Given the description of an element on the screen output the (x, y) to click on. 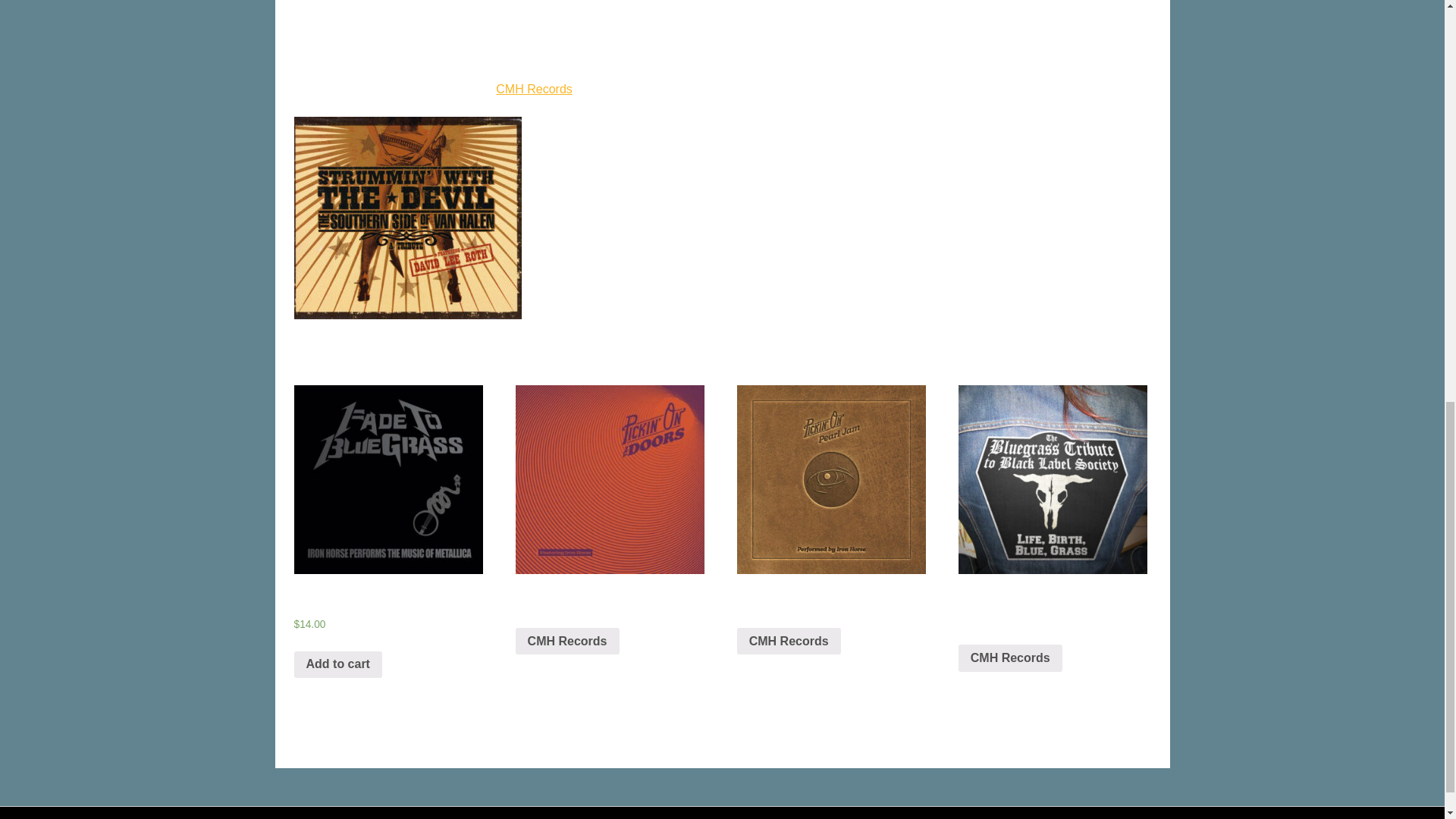
CMH Records (1010, 657)
Add to cart (337, 664)
CMH Records (534, 88)
CMH Records (567, 641)
CMH Records (788, 641)
